Given the description of an element on the screen output the (x, y) to click on. 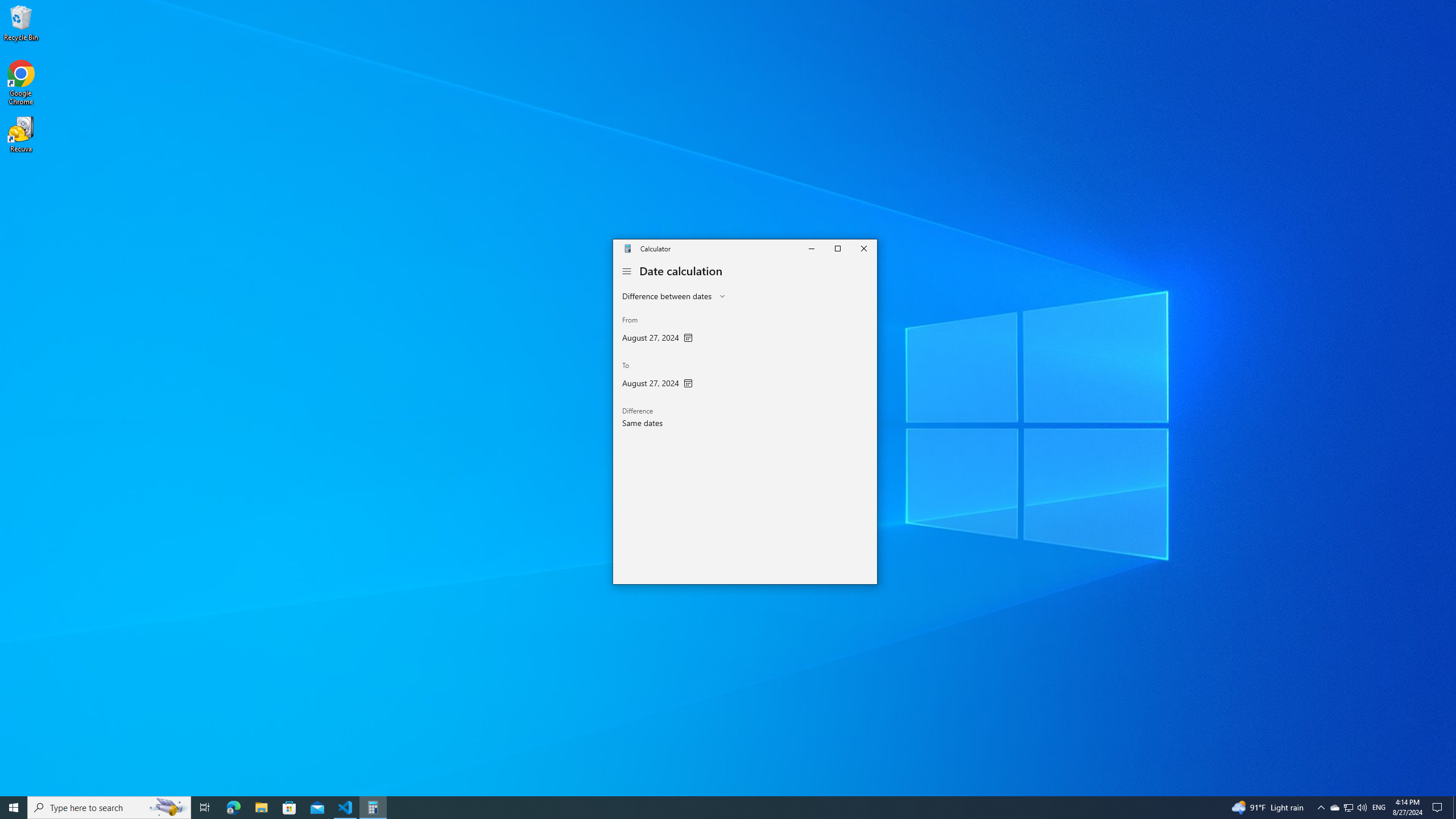
Calculator - 1 running window (373, 807)
To (656, 376)
Difference between dates (666, 295)
Minimize Calculator (810, 248)
Maximize Calculator (837, 248)
Close Calculator (863, 248)
From (656, 331)
